Given the description of an element on the screen output the (x, y) to click on. 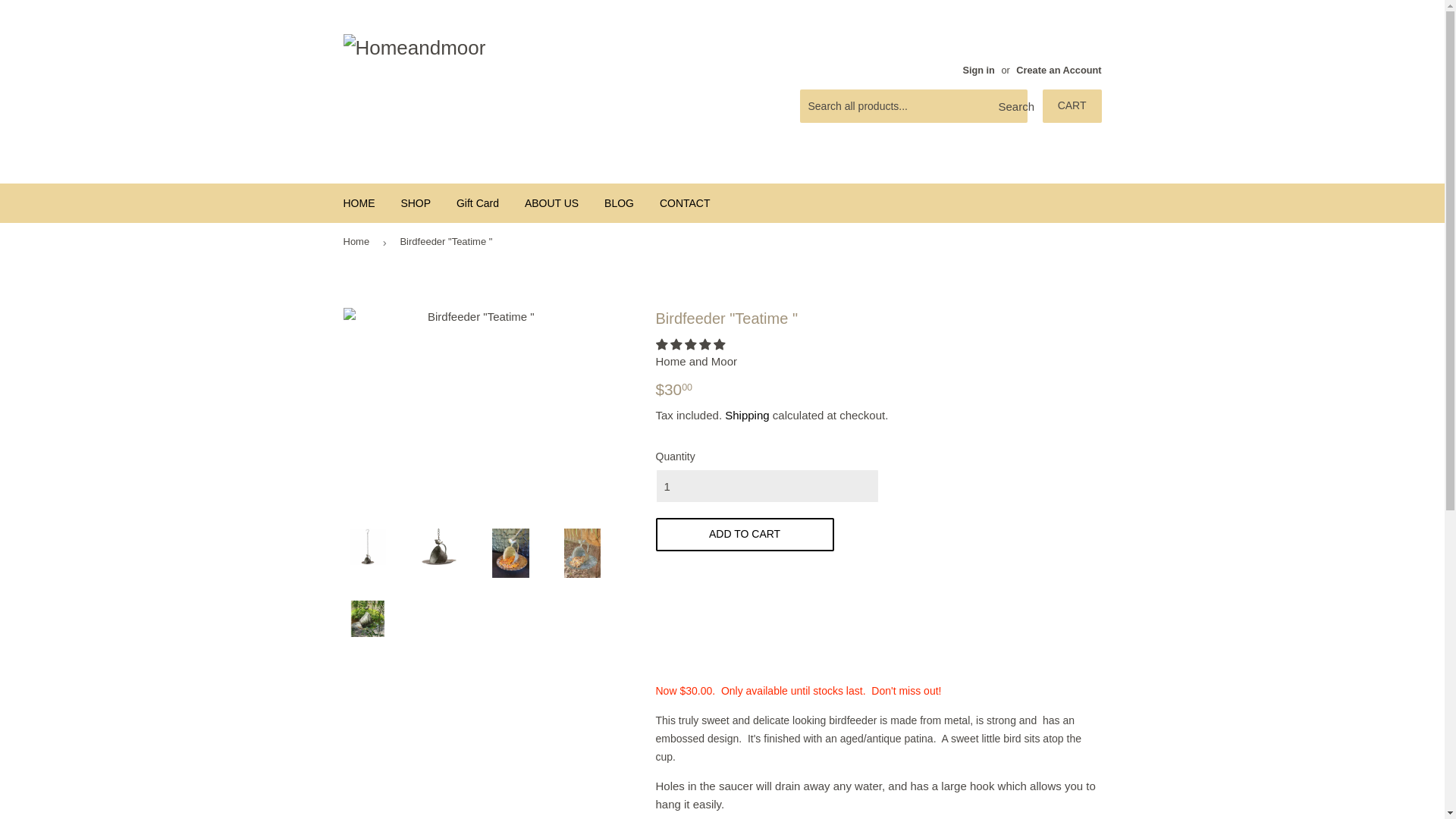
SHOP (415, 202)
CART (1072, 105)
Create an Account (1058, 70)
Search (1009, 106)
HOME (359, 202)
1 (766, 485)
Sign in (978, 70)
